Given the description of an element on the screen output the (x, y) to click on. 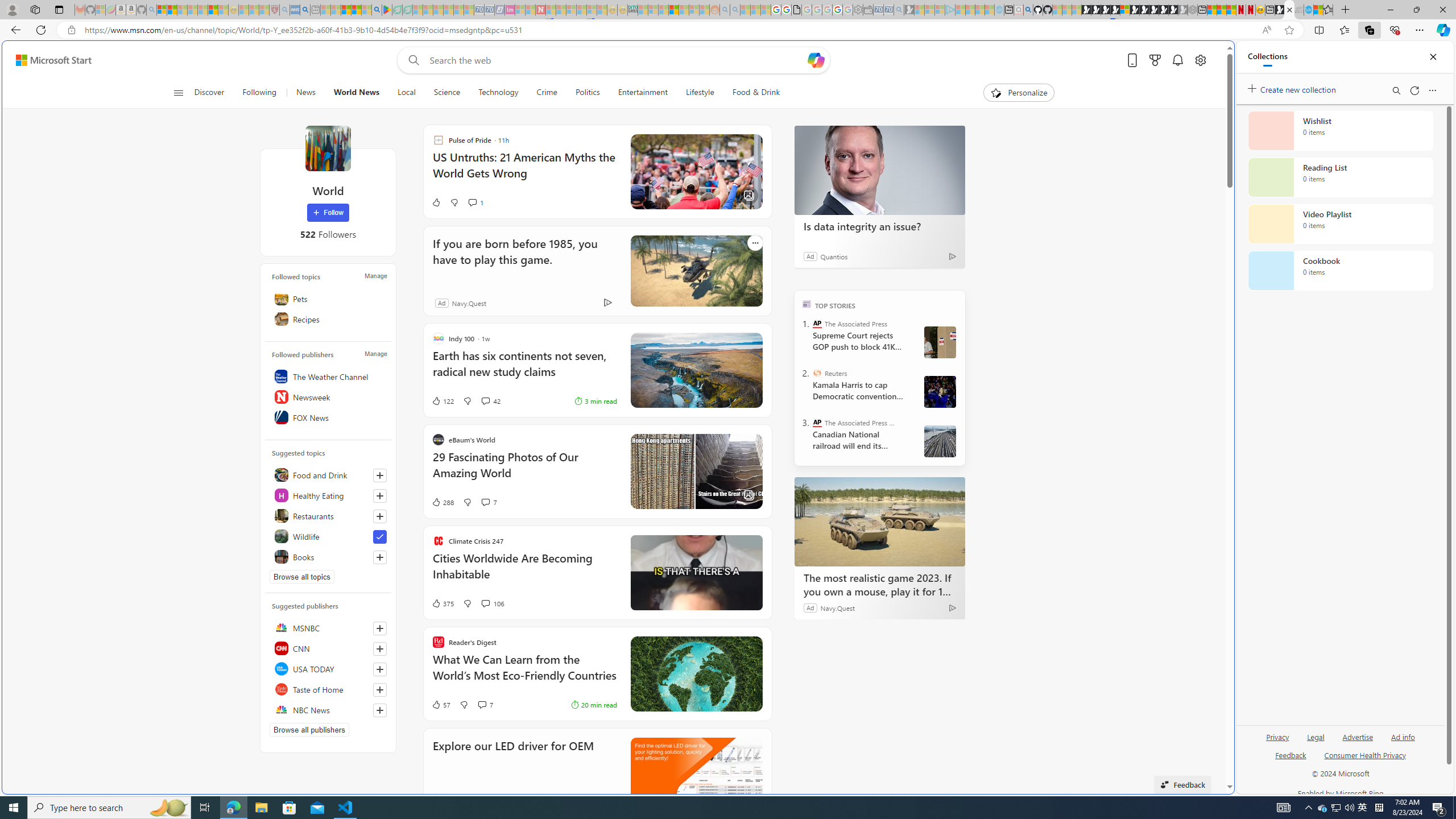
Newsweek (327, 397)
Cookbook collection, 0 items (1339, 270)
NBC News (327, 709)
Explore our LED driver for OEM (513, 761)
More options menu (1432, 90)
